Given the description of an element on the screen output the (x, y) to click on. 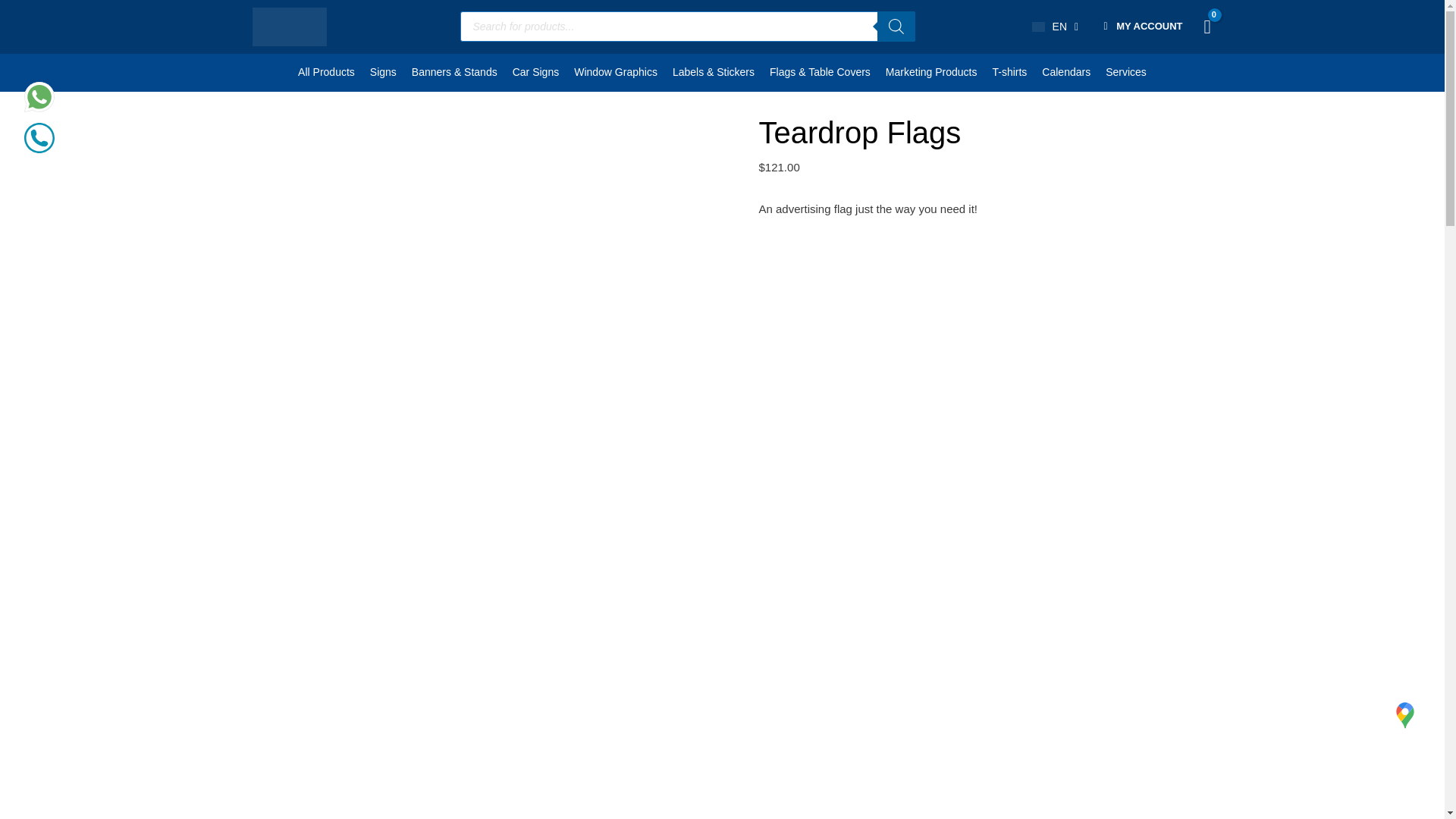
Signs (383, 72)
All Products (325, 72)
Car Signs (535, 72)
EN (1055, 26)
MY ACCOUNT (1149, 25)
